Given the description of an element on the screen output the (x, y) to click on. 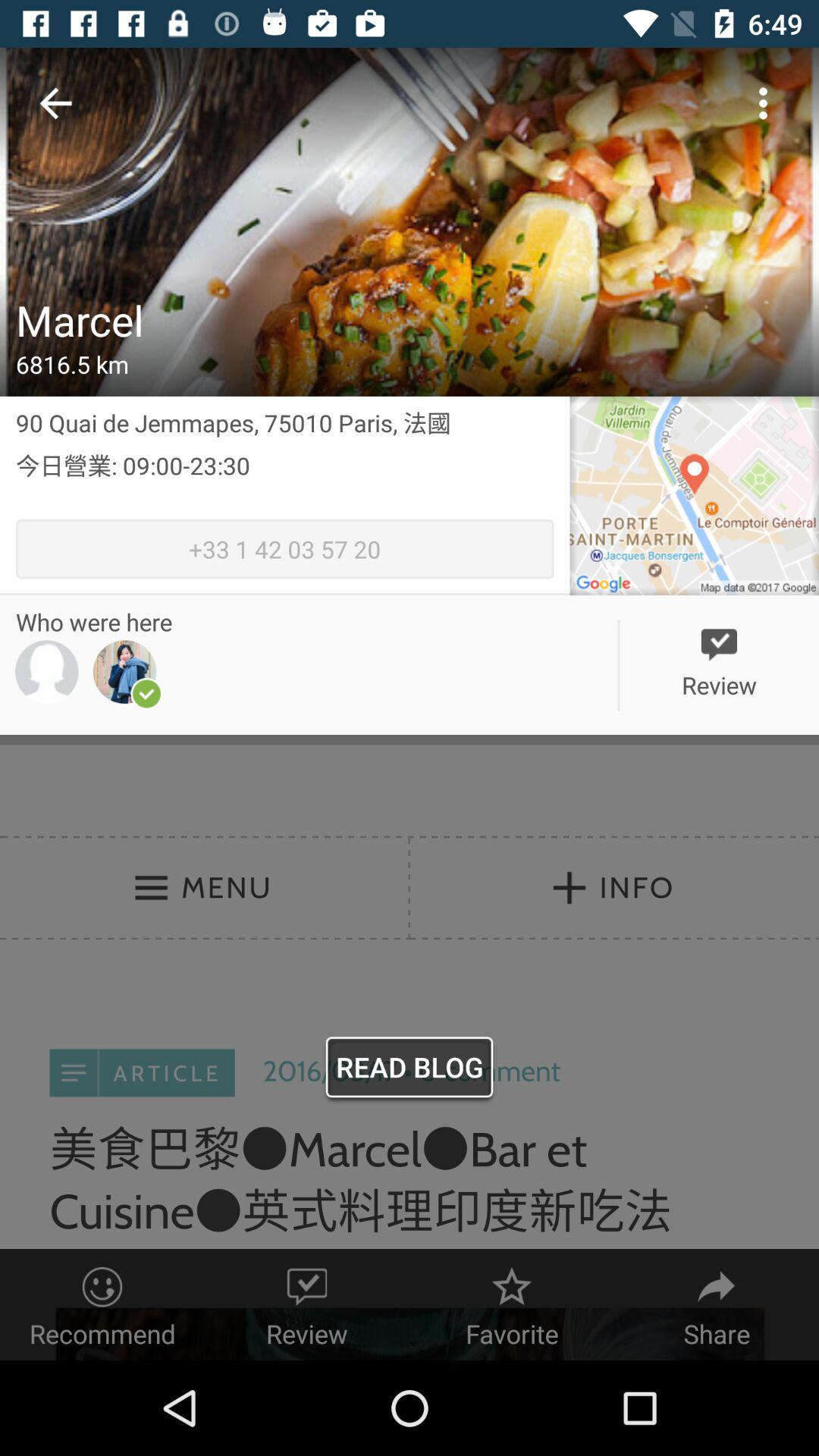
choose the icon above the 33 1 42 item (284, 484)
